Given the description of an element on the screen output the (x, y) to click on. 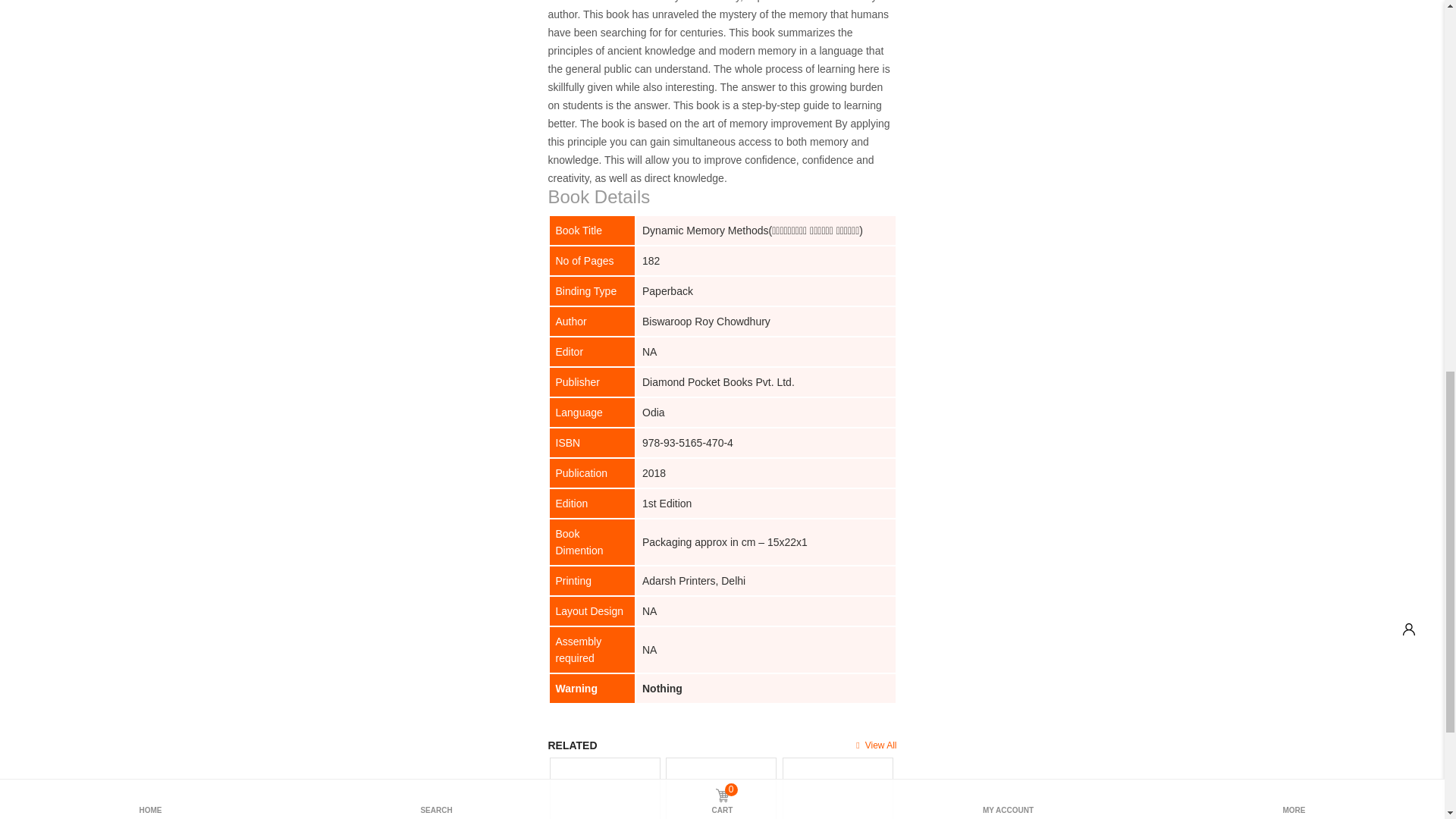
Odia Book Lok Vyavhar By Dale Carnegie From OdishaShop (604, 788)
